Given the description of an element on the screen output the (x, y) to click on. 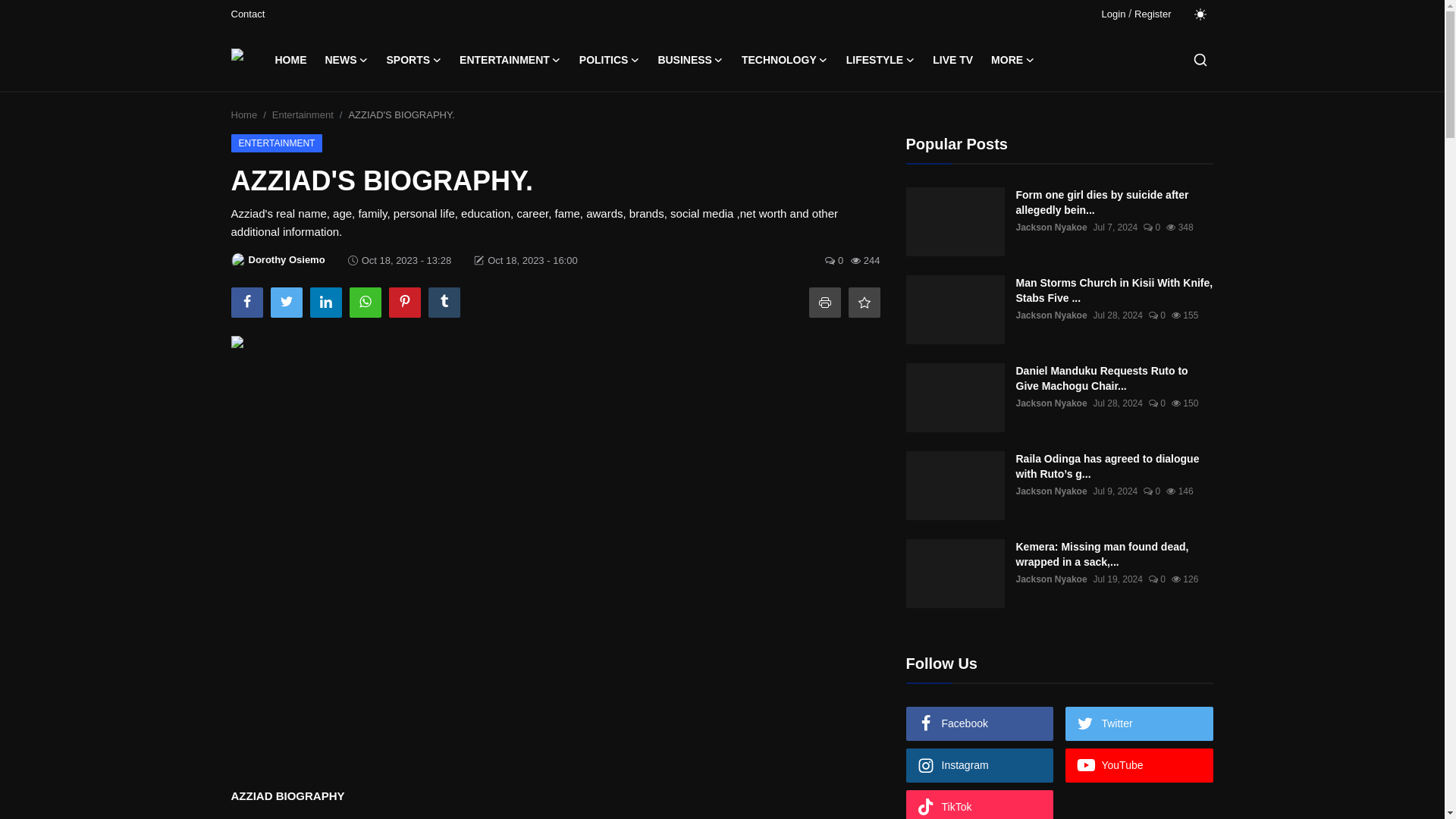
SPORTS (414, 59)
LIFESTYLE (880, 59)
Add to Reading List (863, 302)
MORE (1012, 59)
Register (1152, 14)
BUSINESS (689, 59)
Login (1113, 14)
ENTERTAINMENT (509, 59)
TECHNOLOGY (784, 59)
LIVE TV (952, 59)
POLITICS (609, 59)
NEWS (346, 59)
light (1199, 14)
Contact (247, 14)
